Given the description of an element on the screen output the (x, y) to click on. 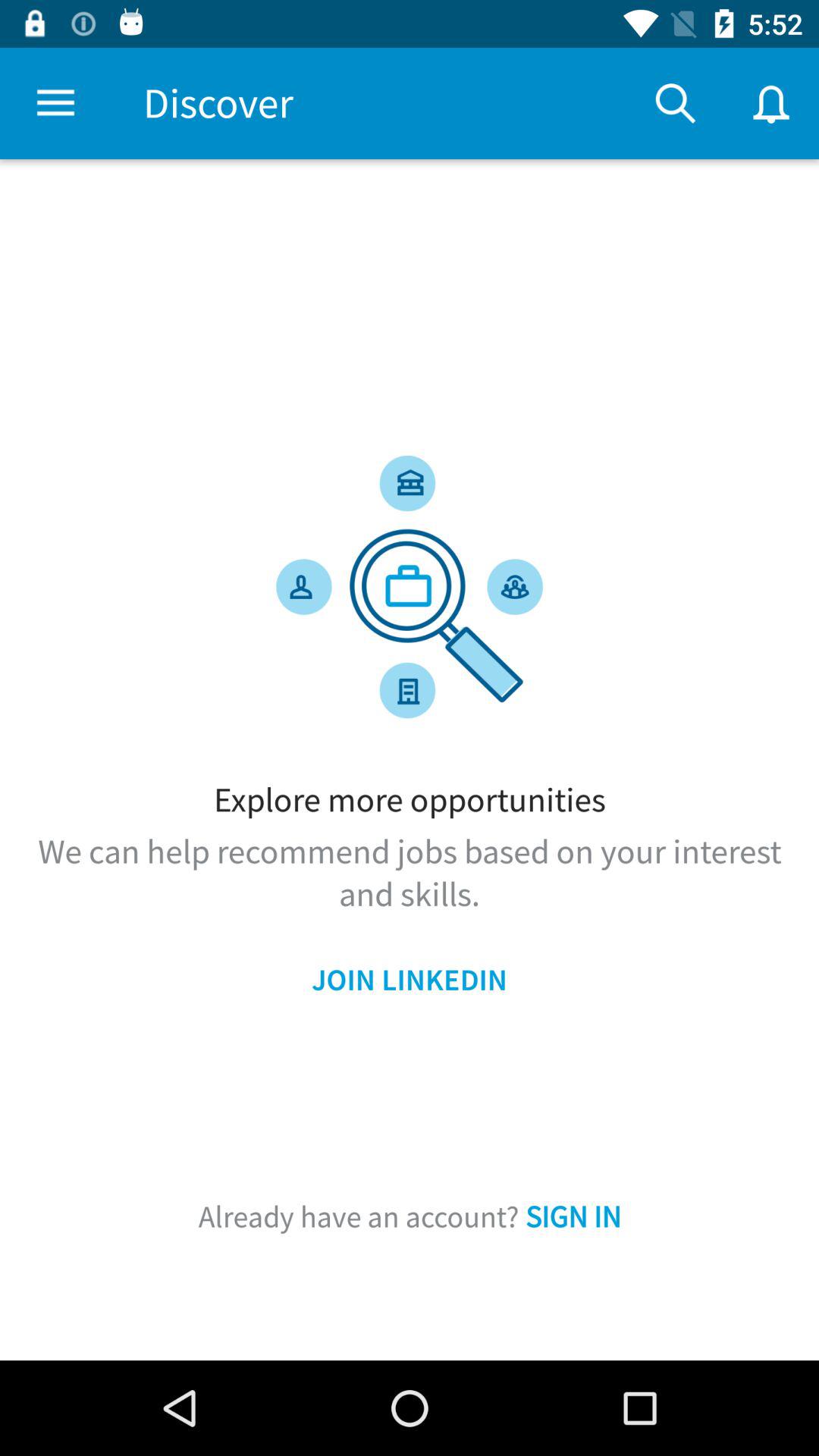
press icon to the right of the discover icon (675, 103)
